Given the description of an element on the screen output the (x, y) to click on. 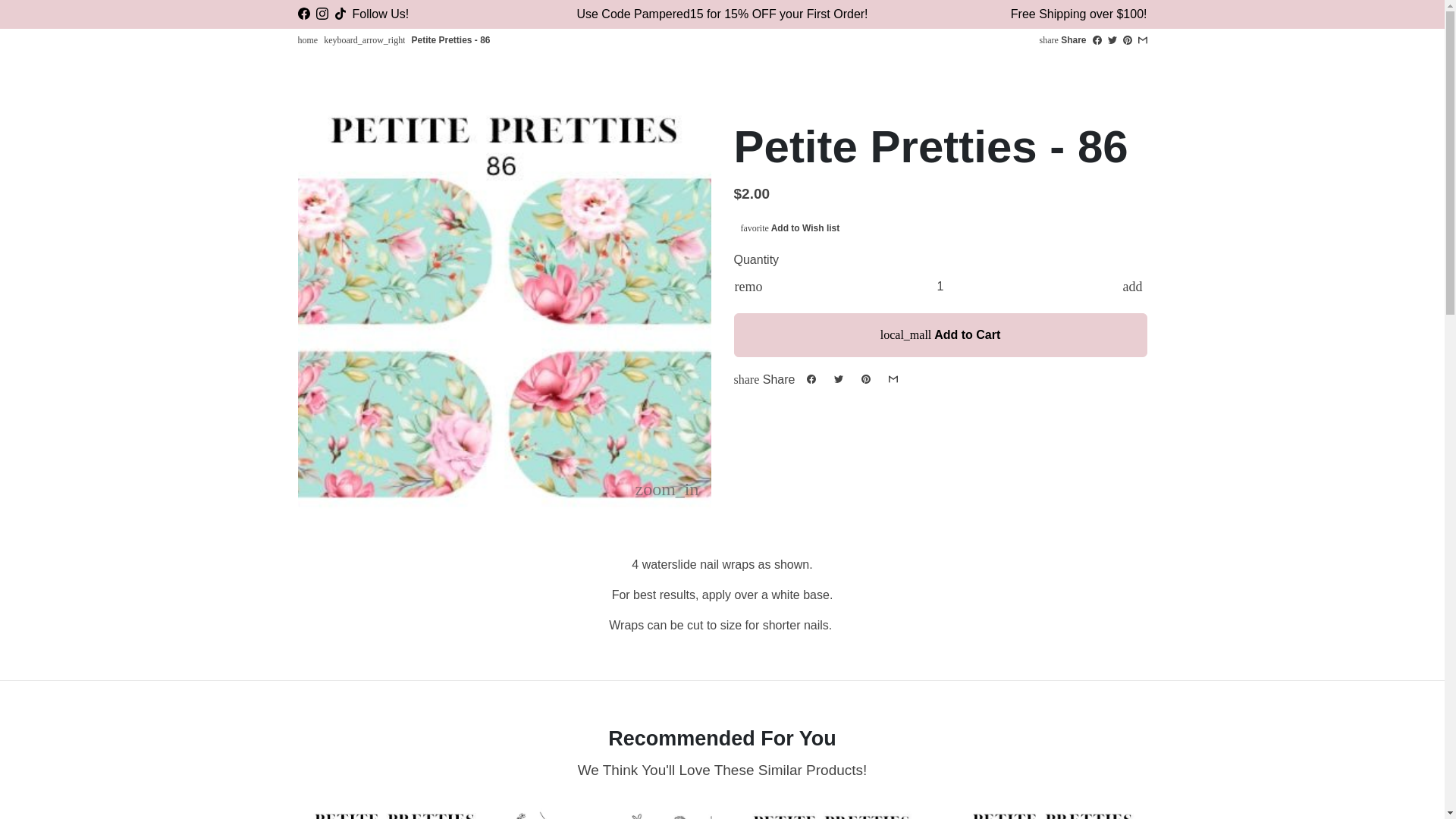
1 (940, 285)
Pampered Pretties on Facebook (302, 13)
Pampered Pretties on Tiktok (339, 13)
Pampered Pretties on Instagram (321, 13)
